Given the description of an element on the screen output the (x, y) to click on. 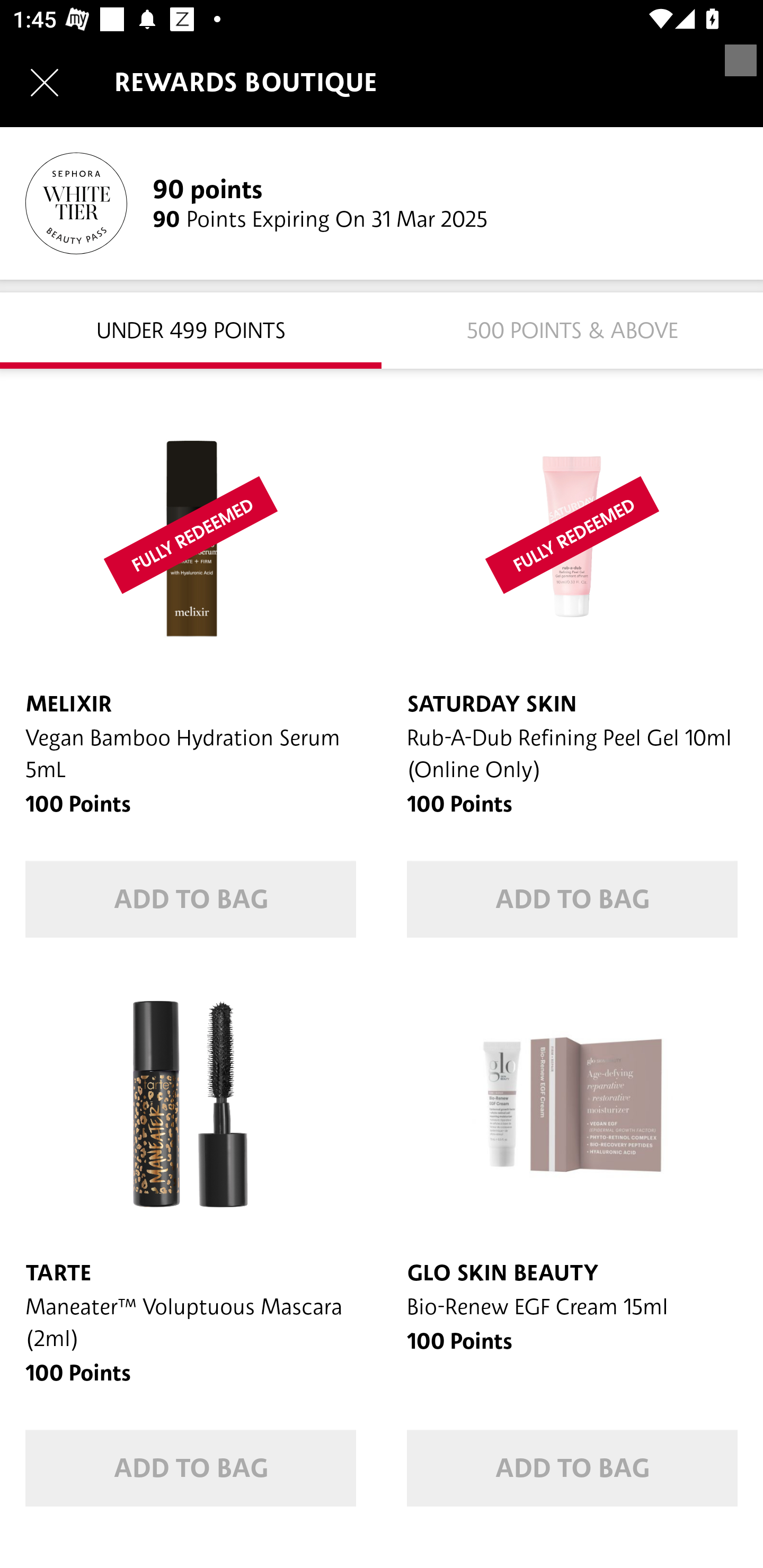
Navigate up (44, 82)
500 Points & Above 500 POINTS & ABOVE (572, 329)
ADD TO BAG (190, 898)
ADD TO BAG (571, 898)
ADD TO BAG (190, 1468)
ADD TO BAG (571, 1468)
